Given the description of an element on the screen output the (x, y) to click on. 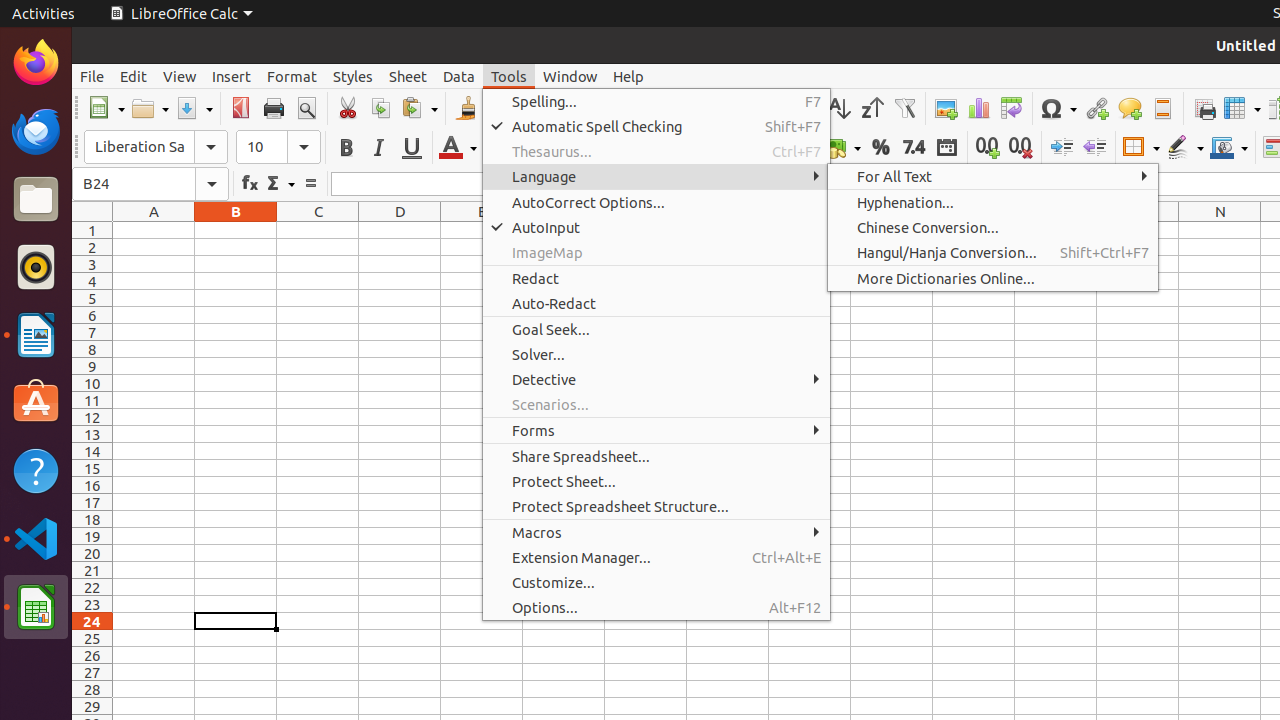
Language Element type: menu (656, 176)
Print Element type: push-button (273, 108)
Apply Style Element type: text (73, 129)
H1 Element type: table-cell (728, 230)
